Given the description of an element on the screen output the (x, y) to click on. 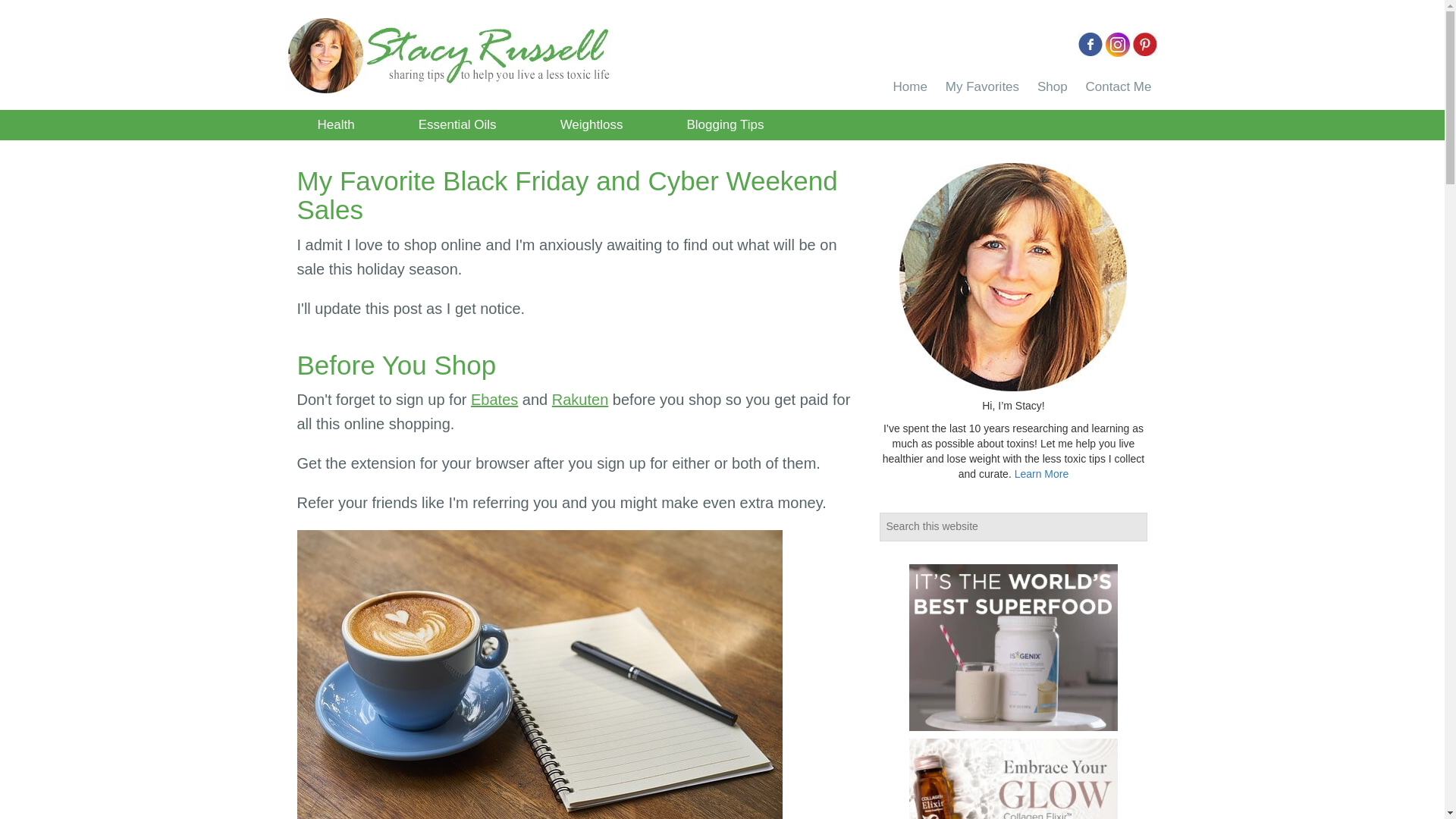
Weightloss (591, 124)
My Favorites (981, 86)
Learn More (1041, 473)
Rakuten (579, 399)
Shop (1052, 86)
Health (335, 124)
Blogging Tips (723, 124)
Contact Me (1118, 86)
Essential Oils (457, 124)
Ebates (494, 399)
Home (909, 86)
